Given the description of an element on the screen output the (x, y) to click on. 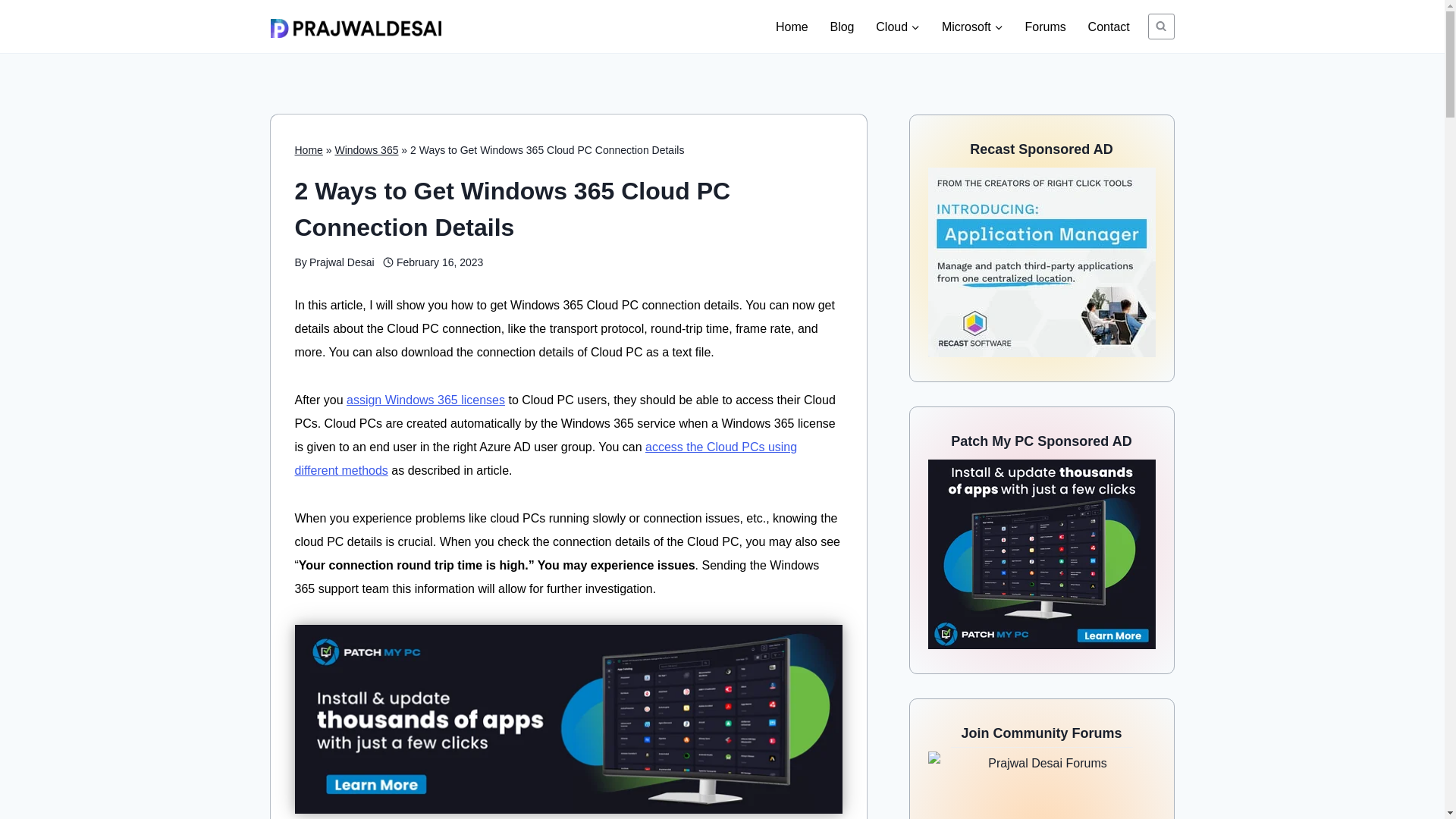
Windows 365 (365, 150)
Forums (1045, 26)
assign Windows 365 licenses (425, 399)
Install and Update Third Party Applications with Patch My PC (567, 719)
Blog (841, 26)
Prajwal Desai (341, 262)
Home (791, 26)
Microsoft (971, 26)
Home (307, 150)
access the Cloud PCs using different methods (545, 458)
